Given the description of an element on the screen output the (x, y) to click on. 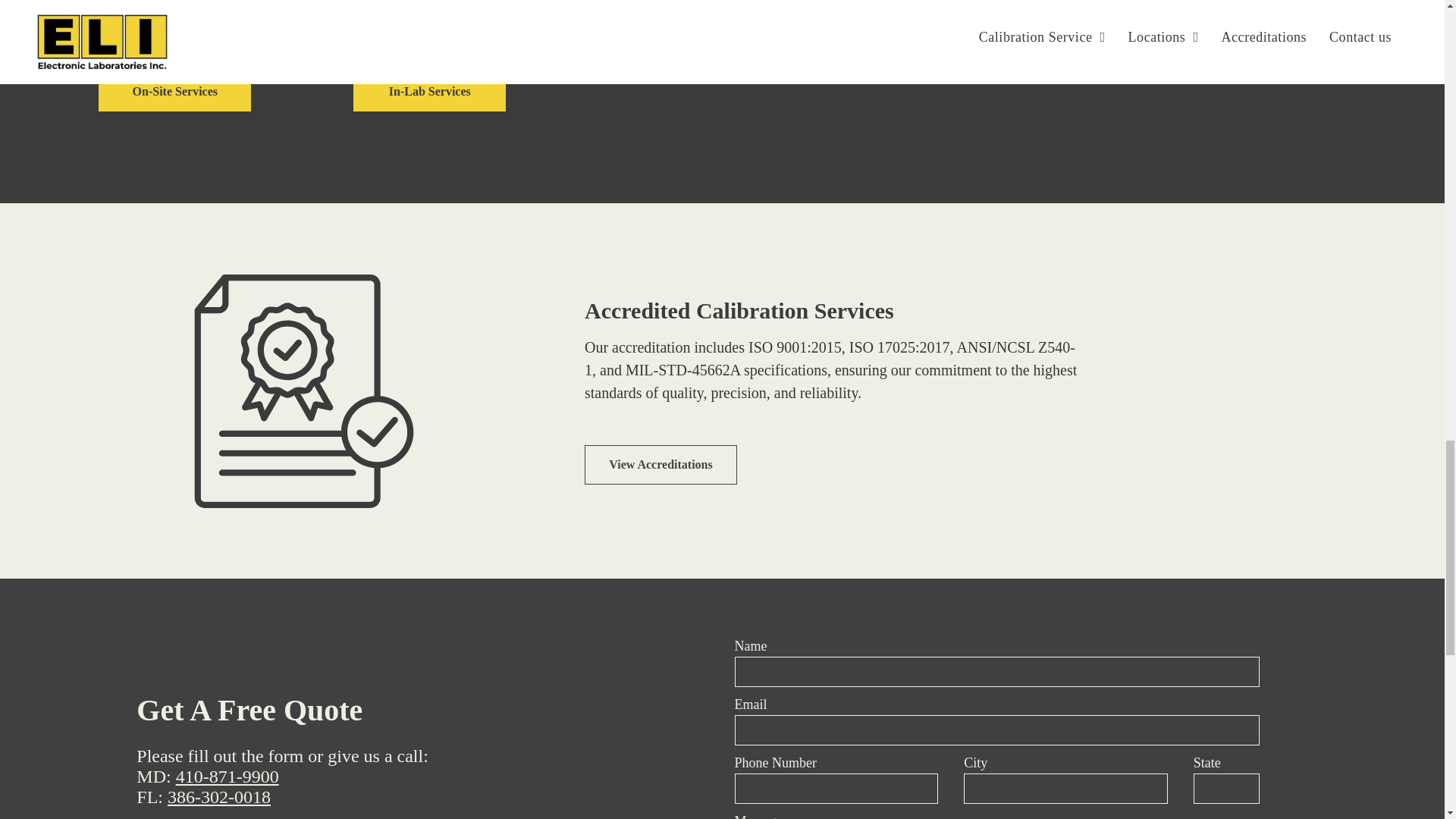
electronic calibration services (303, 390)
On-Site Services (174, 91)
In-Lab Services (429, 91)
